Given the description of an element on the screen output the (x, y) to click on. 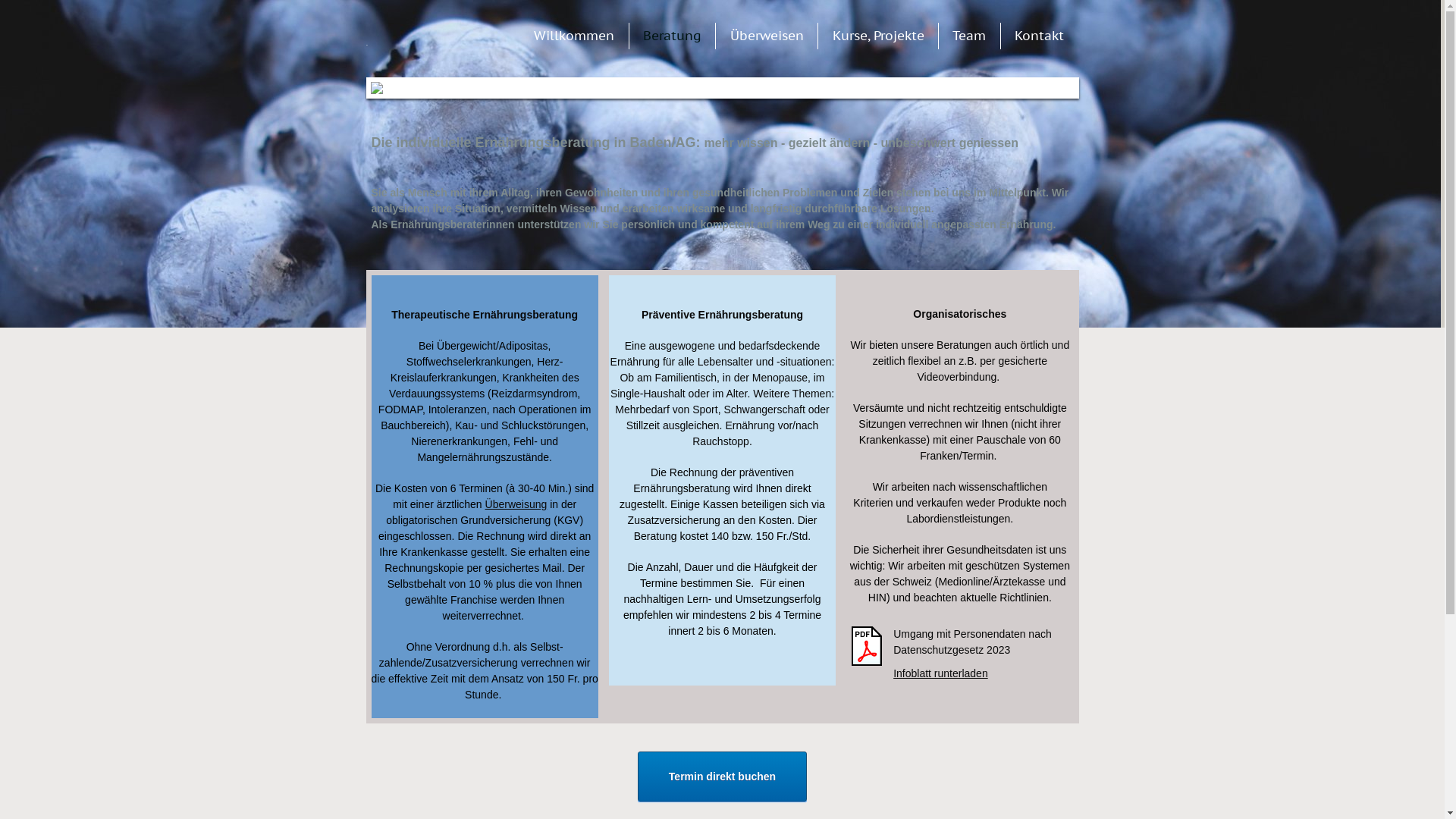
Kontakt Element type: text (1039, 35)
Willkommen Element type: text (573, 35)
Beratung Element type: text (672, 35)
Termin direkt buchen Element type: text (721, 776)
. Element type: text (425, 38)
Kurse, Projekte Element type: text (878, 35)
Infoblatt runterladen Element type: text (940, 673)
Team Element type: text (968, 35)
